Given the description of an element on the screen output the (x, y) to click on. 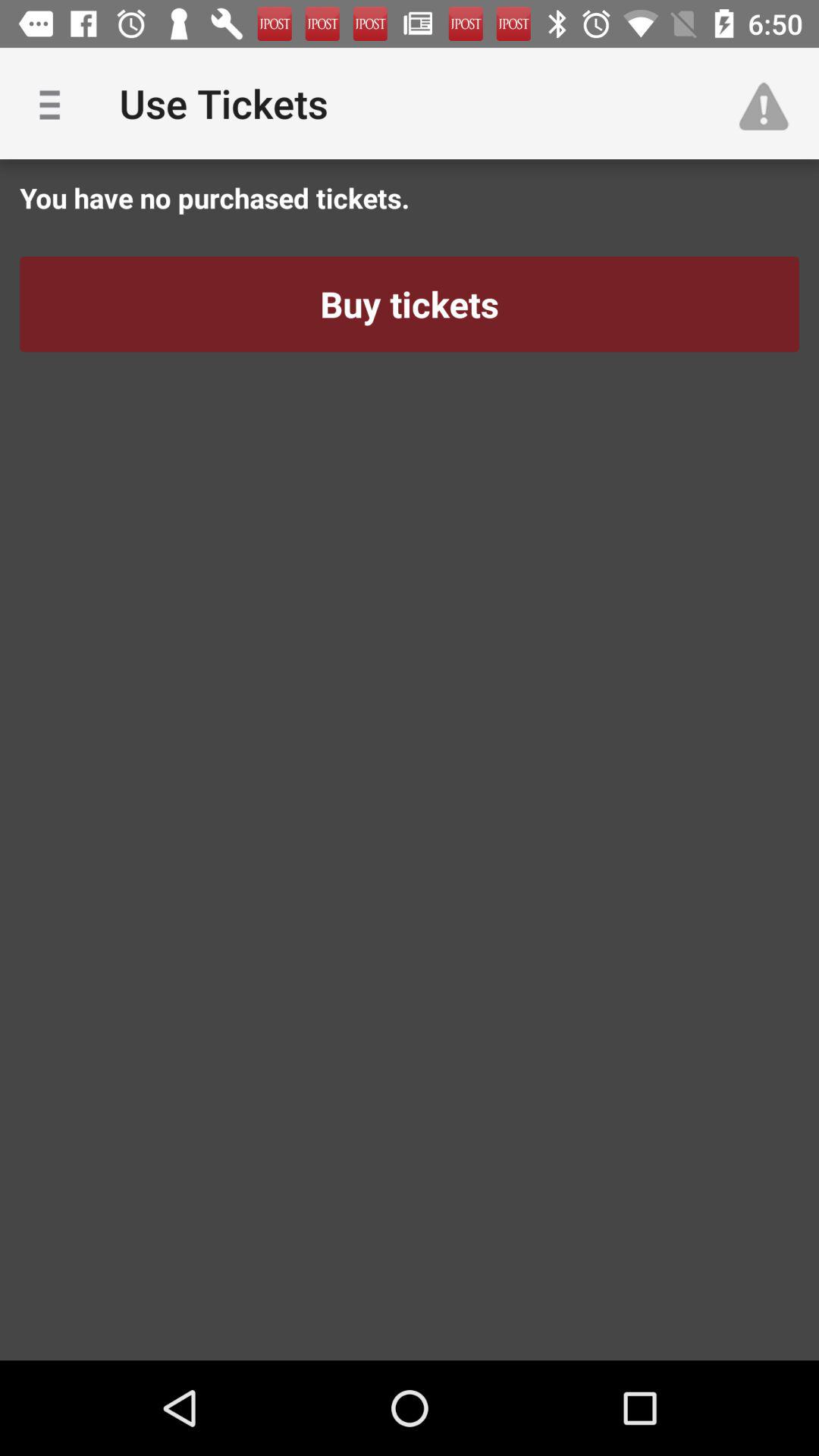
choose icon next to use tickets app (771, 103)
